Given the description of an element on the screen output the (x, y) to click on. 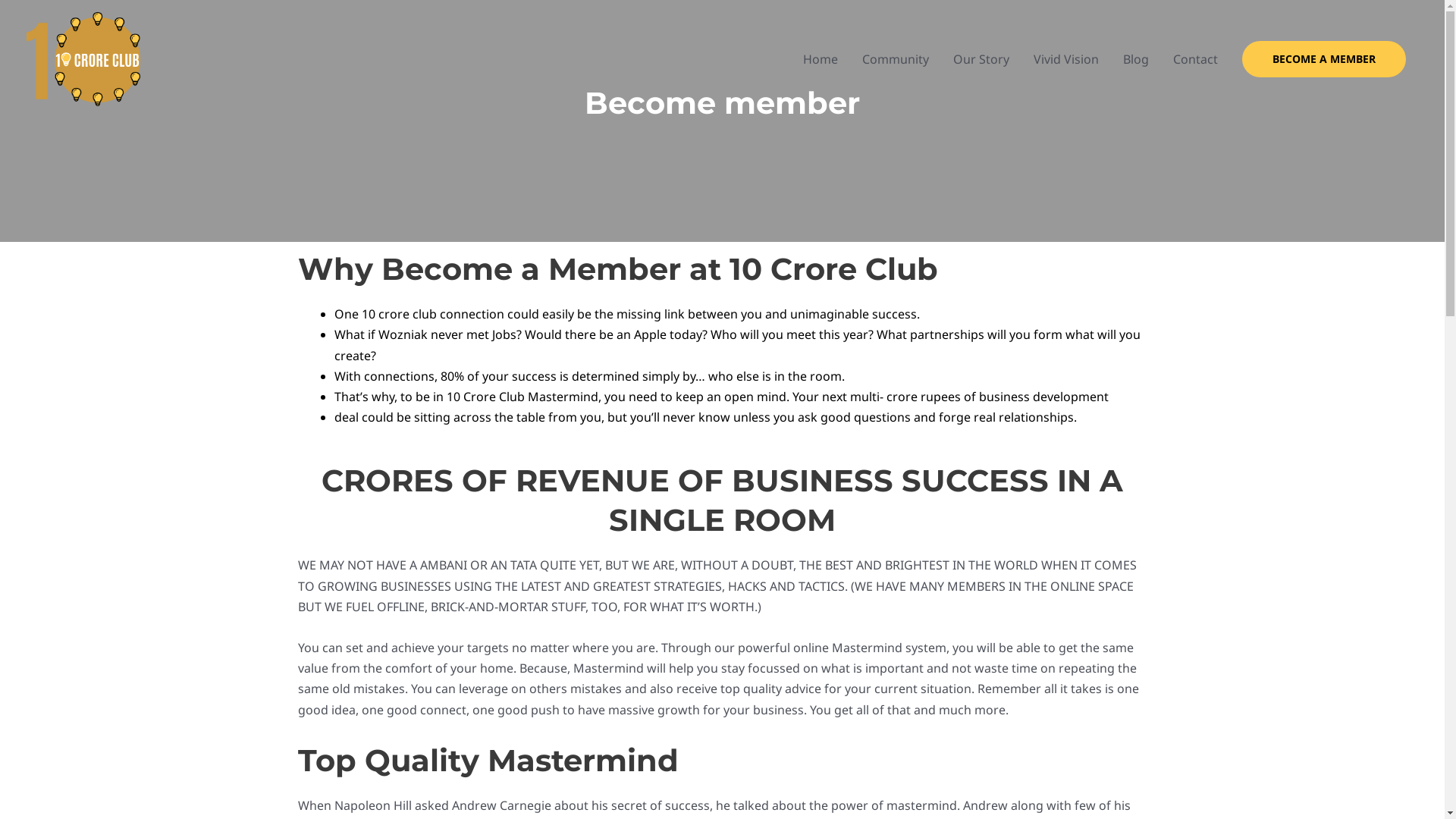
Community Element type: text (895, 59)
Blog Element type: text (1135, 59)
Contact Element type: text (1195, 59)
Our Story Element type: text (981, 59)
Home Element type: text (820, 59)
Vivid Vision Element type: text (1065, 59)
BECOME A MEMBER Element type: text (1323, 58)
